Given the description of an element on the screen output the (x, y) to click on. 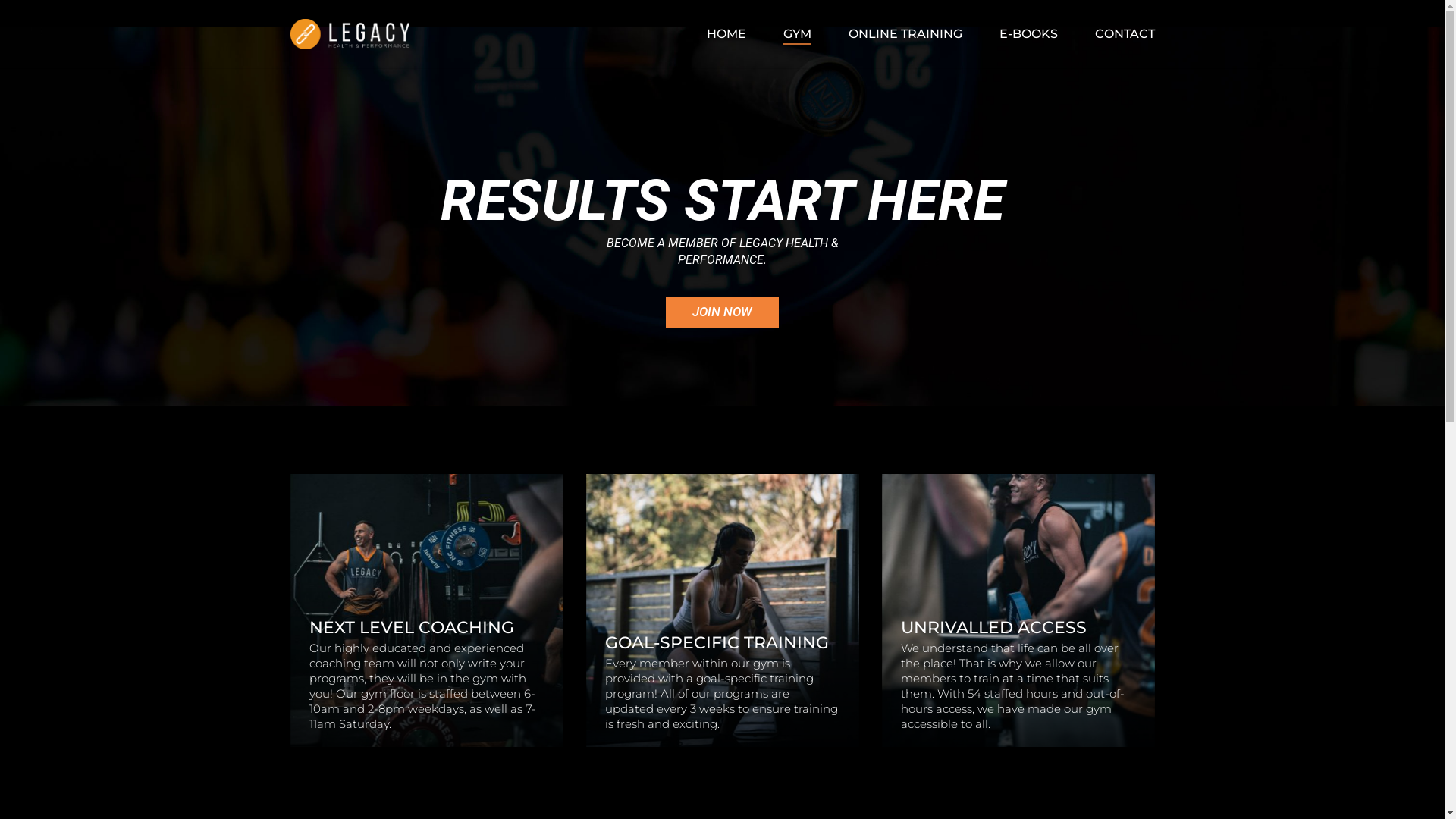
APPLY NOW! Element type: hover (1017, 609)
CONTACT Element type: text (1124, 33)
UNRIVALLED ACCESS Element type: text (993, 627)
GYM Element type: text (796, 33)
E-BOOKS Element type: text (1028, 33)
HOME Element type: text (726, 33)
NEXT LEVEL COACHING Element type: text (411, 627)
APPLY NOW! Element type: hover (425, 609)
ONLINE TRAINING Element type: text (904, 33)
